Given the description of an element on the screen output the (x, y) to click on. 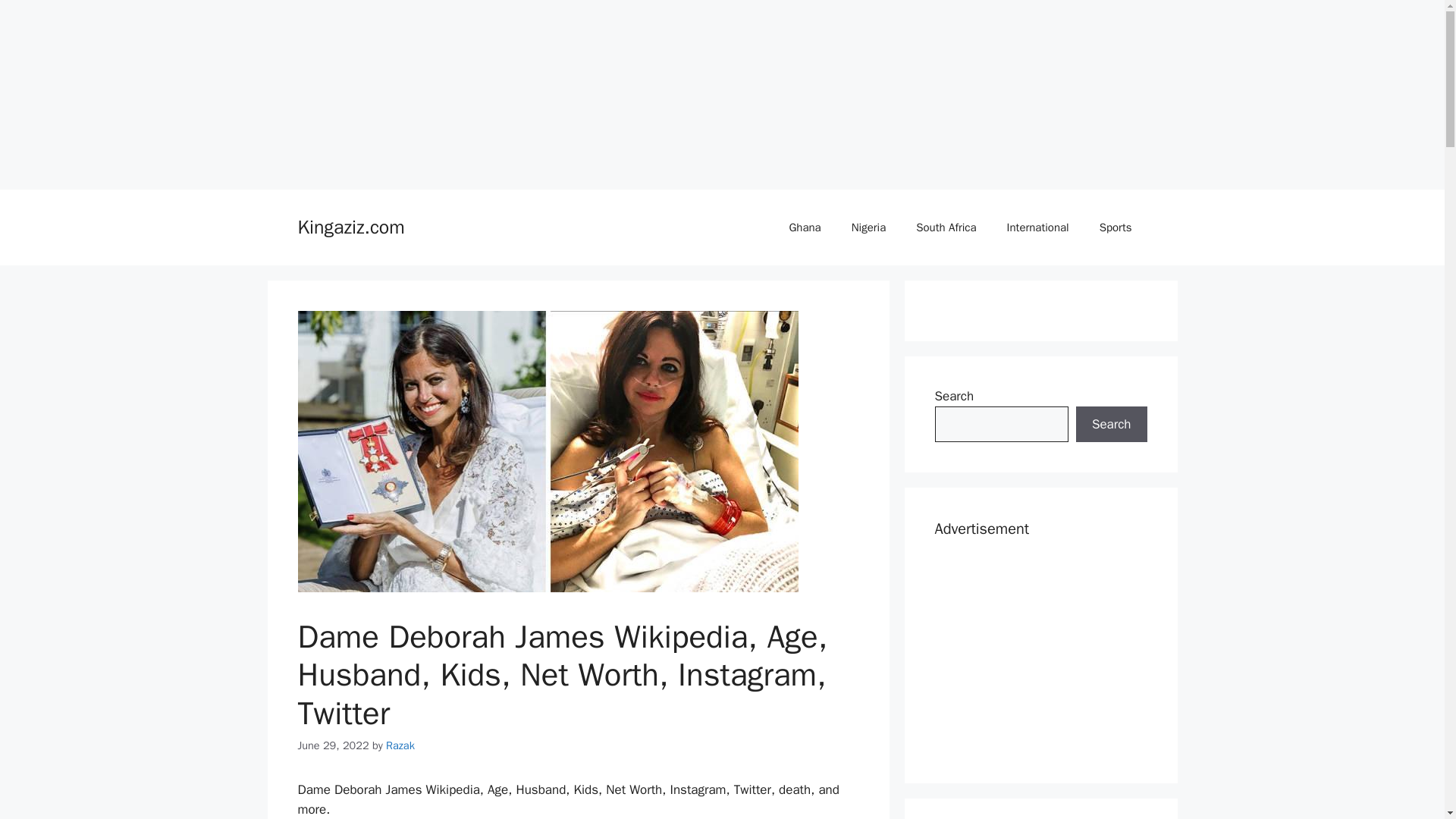
Kingaziz.com (350, 227)
Ghana (804, 227)
Sports (1115, 227)
View all posts by Razak (399, 745)
International (1037, 227)
Nigeria (868, 227)
Razak (399, 745)
South Africa (946, 227)
Search (1111, 424)
